Given the description of an element on the screen output the (x, y) to click on. 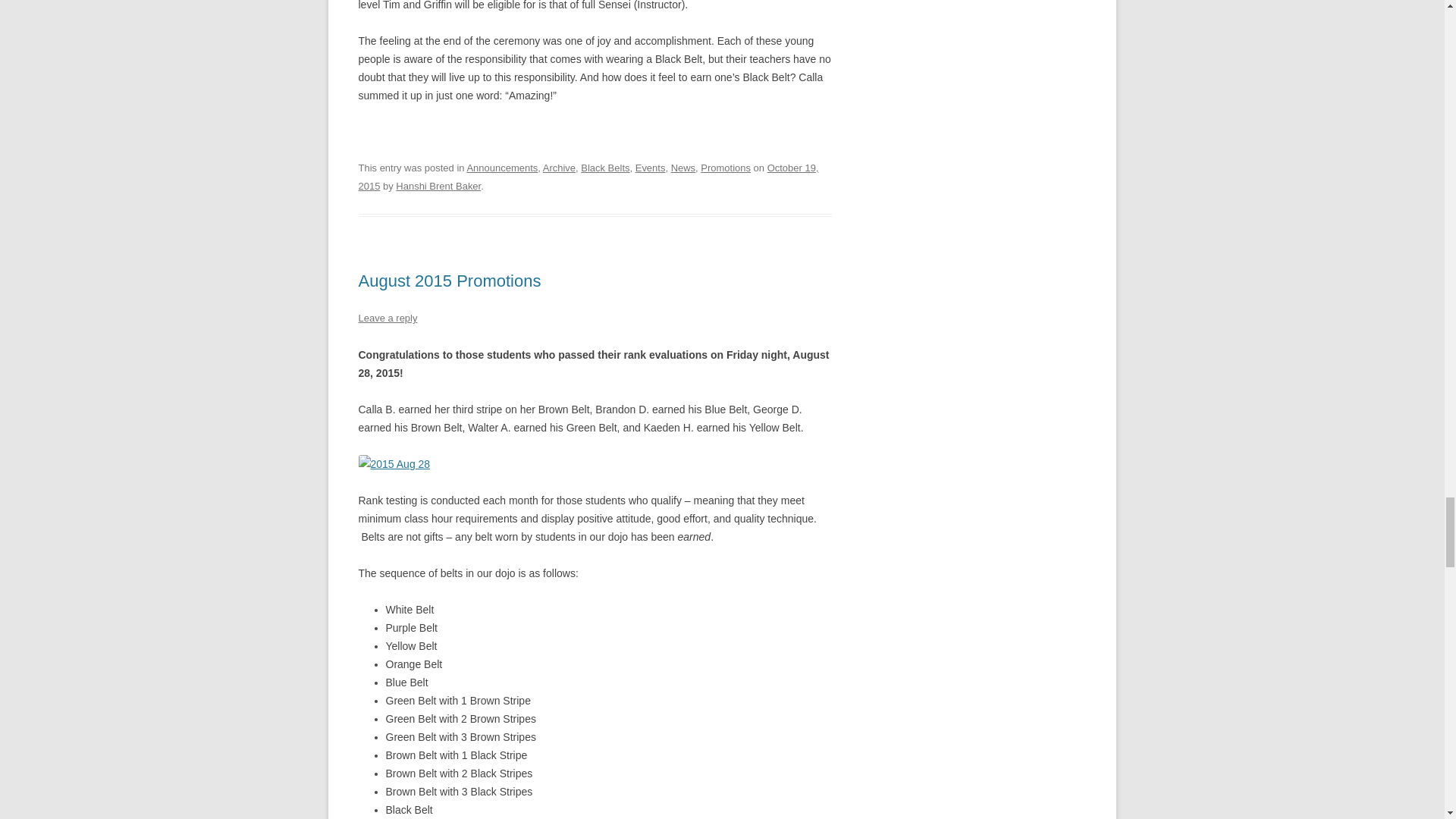
5:32 am (588, 176)
View all posts by Hanshi Brent Baker (438, 185)
